Given the description of an element on the screen output the (x, y) to click on. 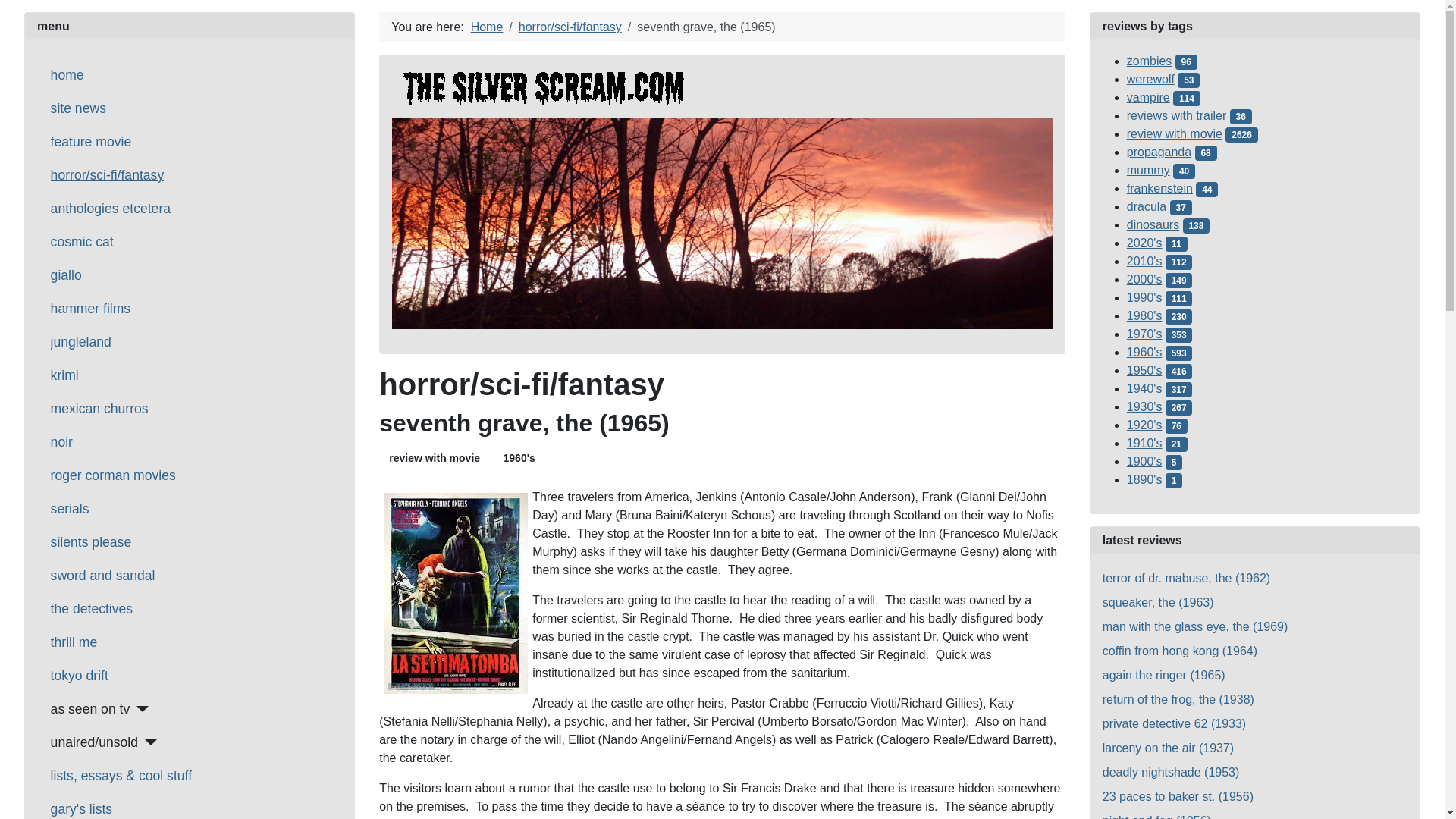
thrill me (73, 641)
feature movie (91, 141)
giallo (65, 275)
as seen on tv (99, 709)
hammer films (90, 308)
krimi (64, 374)
tokyo drift (78, 675)
roger corman movies (113, 475)
cosmic cat (81, 241)
noir (61, 442)
anthologies etcetera (110, 208)
silents please (91, 542)
home (67, 75)
site news (78, 107)
serials (69, 508)
